Given the description of an element on the screen output the (x, y) to click on. 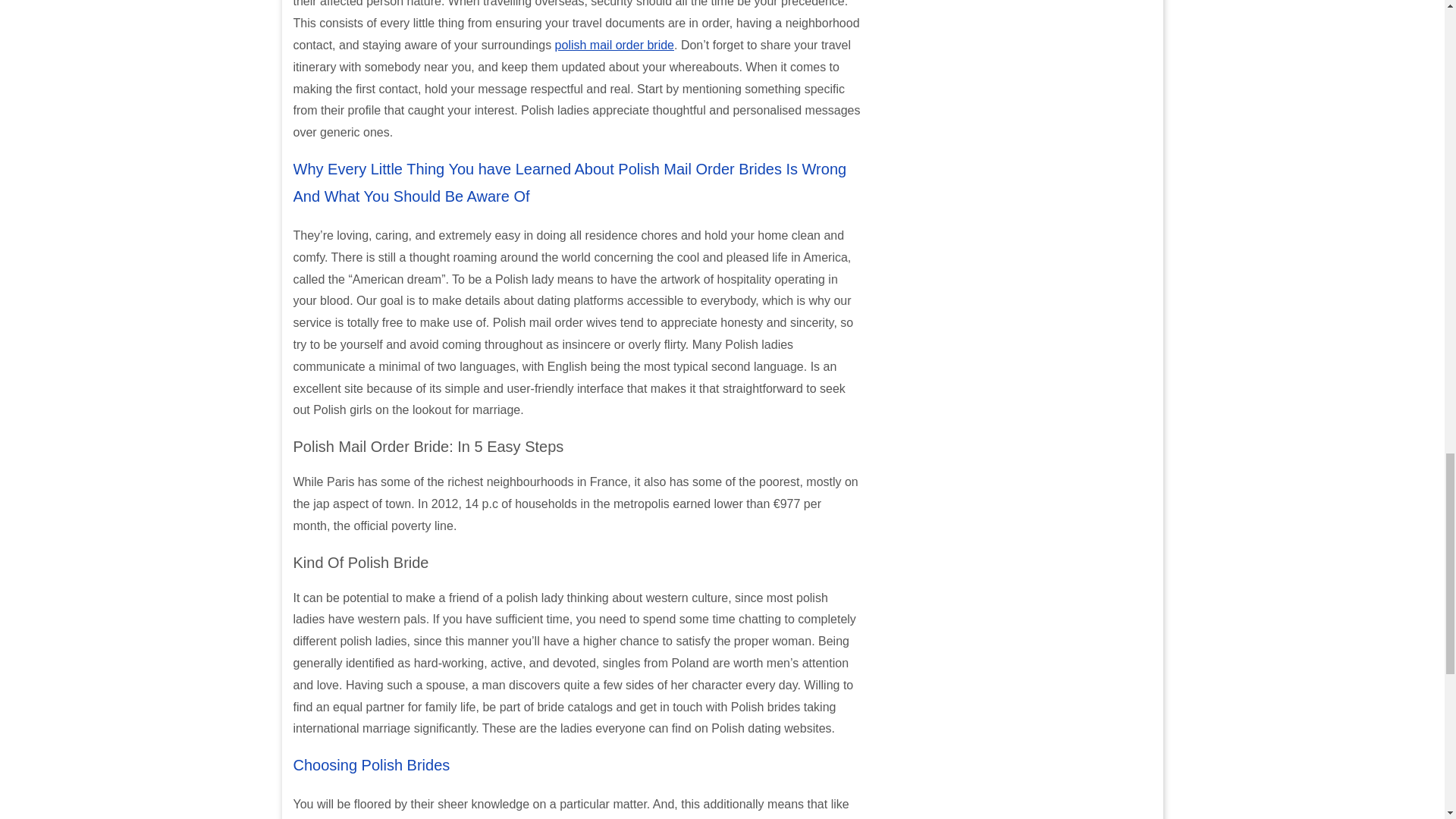
polish mail order bride (614, 44)
